Given the description of an element on the screen output the (x, y) to click on. 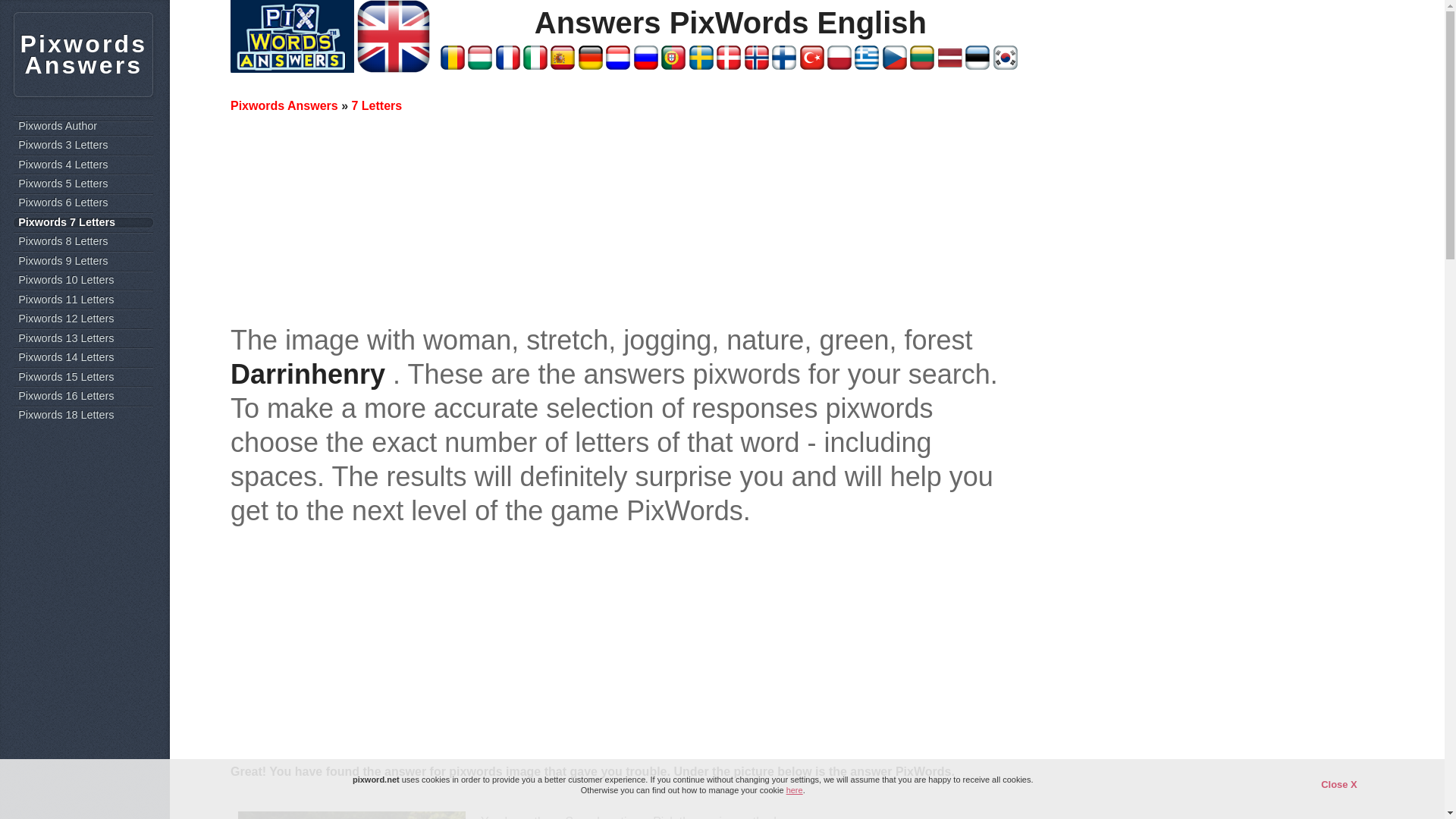
Antworten PixWords Deutsche (590, 65)
Svar PixWords Danske (728, 65)
Odpowiedzi PixWords Polskie (839, 65)
Antwoorden PixWords Dutch (617, 65)
Risposte PixWords Italiano (534, 65)
Vastauksia PixWords Suomi (783, 65)
Pixwords Answers - Help (291, 68)
PixWords Help English (392, 68)
Svar PixWords Svenska (700, 65)
Atsakymai PixWords Lietuvos (922, 65)
